Given the description of an element on the screen output the (x, y) to click on. 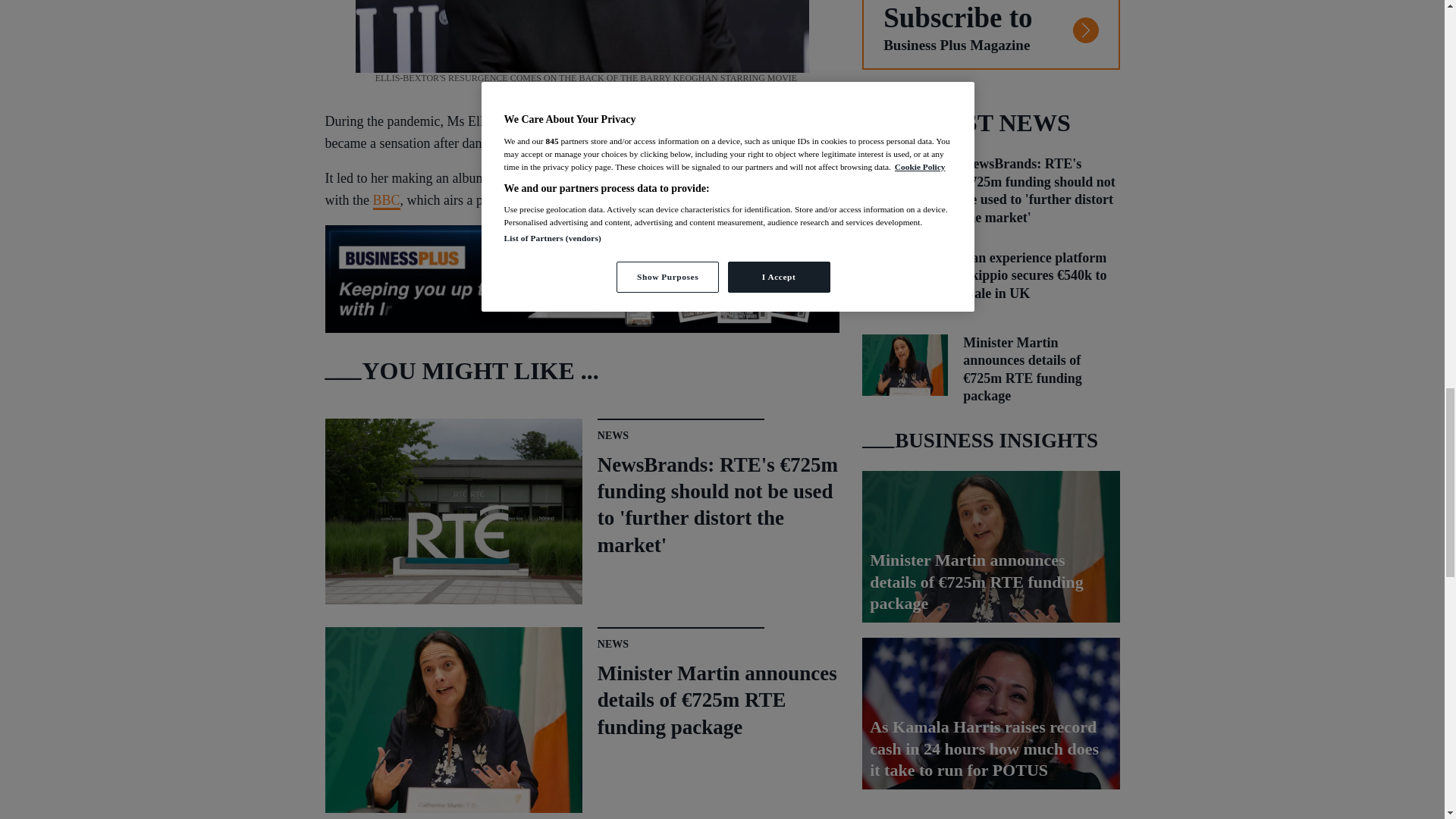
NEWS (612, 435)
BBC (386, 200)
Blue Peter (680, 122)
Songs From The Kitchen Disco (613, 179)
NEWS (612, 644)
